Given the description of an element on the screen output the (x, y) to click on. 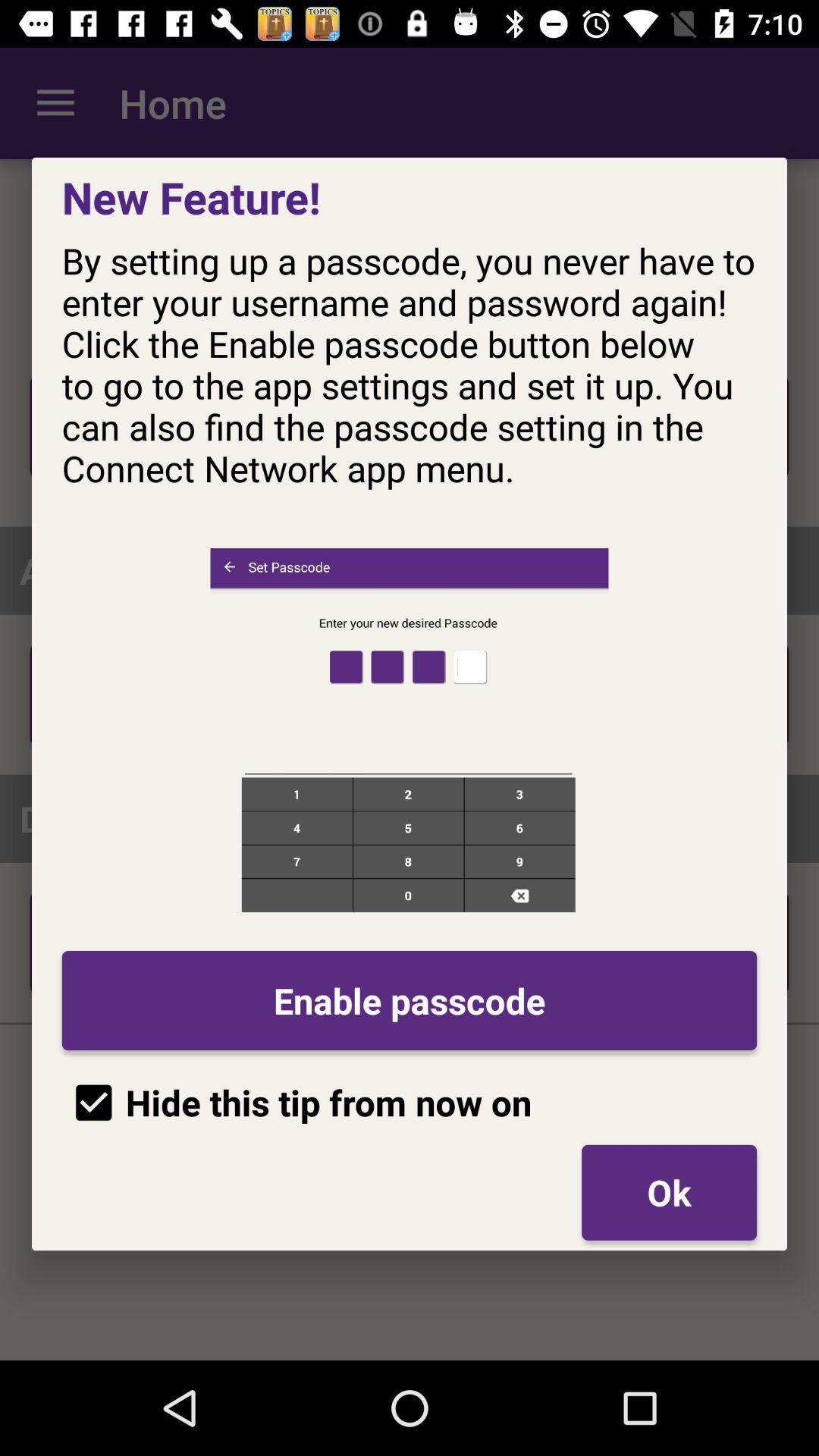
turn on ok icon (669, 1192)
